Given the description of an element on the screen output the (x, y) to click on. 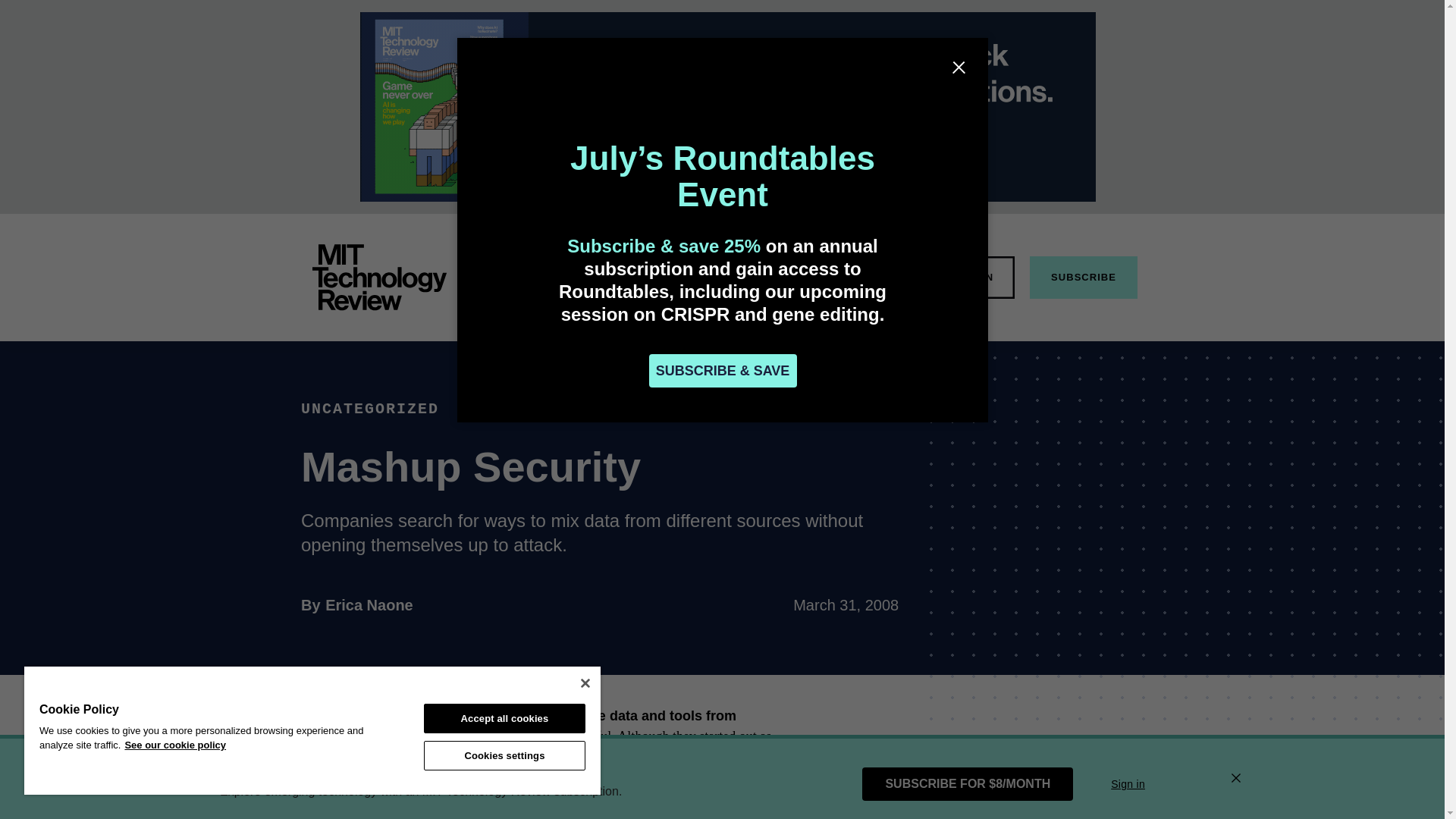
tools (647, 799)
Google Maps (447, 778)
Featured (368, 605)
Newsletters (569, 275)
Events (717, 275)
SUBSCRIBE (796, 275)
a tool (1083, 277)
3rd party ad content (540, 757)
SIGN IN (1081, 762)
Craigslist (972, 277)
MIT Technology Review (352, 778)
Topics (379, 277)
UNCATEGORIZED (639, 275)
